Given the description of an element on the screen output the (x, y) to click on. 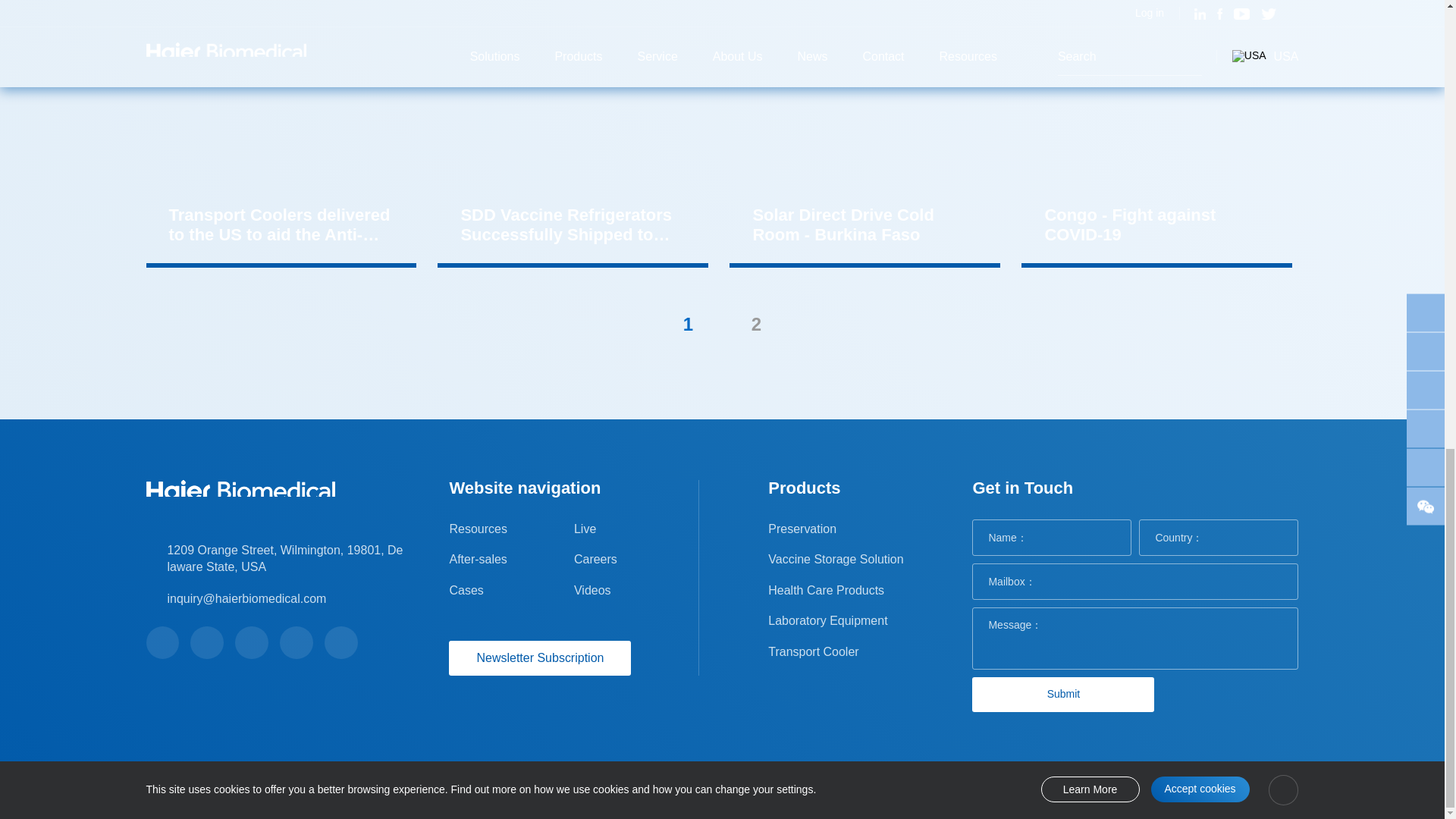
Submit (1063, 694)
